Given the description of an element on the screen output the (x, y) to click on. 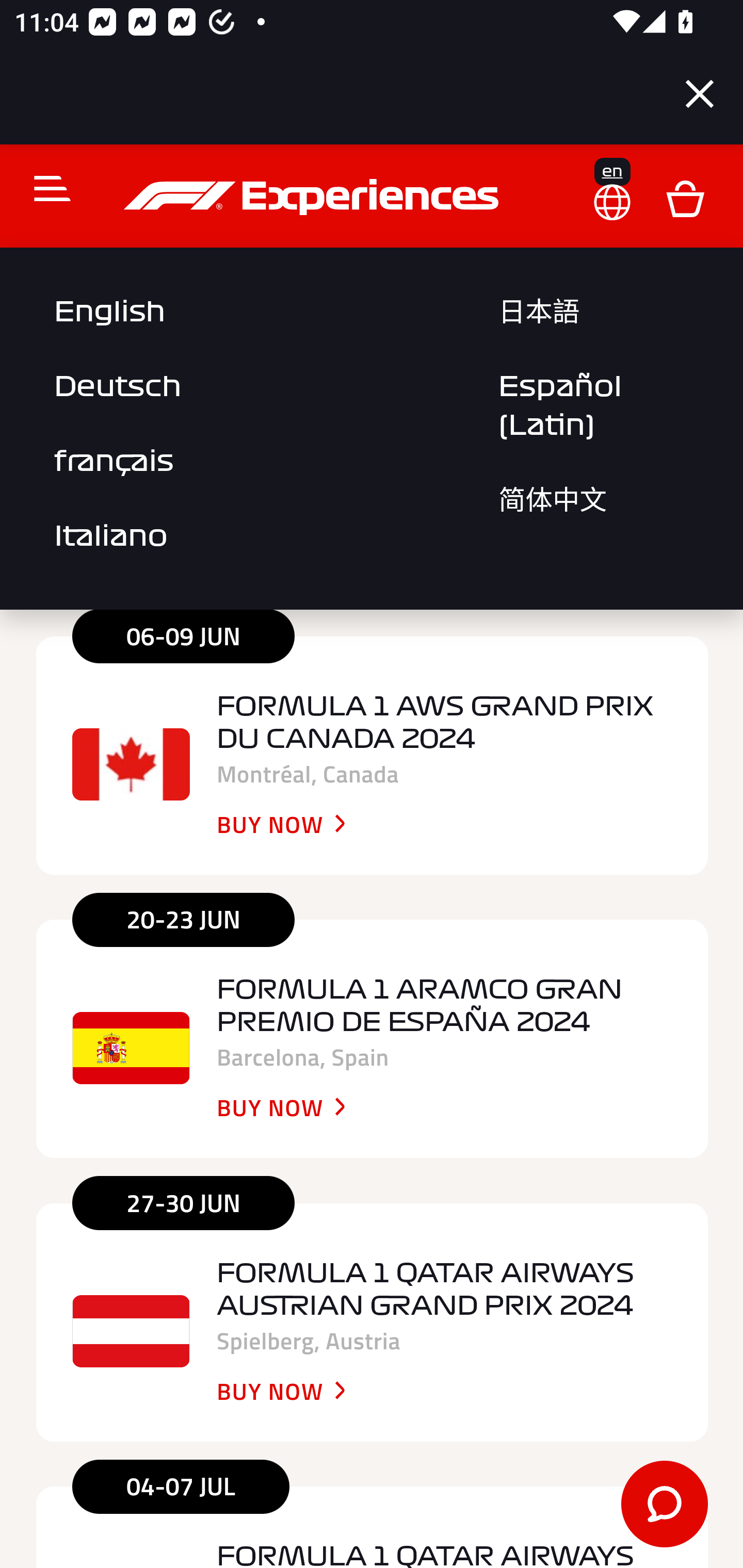
Close (699, 93)
Toggle navigation C (43, 189)
D (684, 198)
f1experiences (313, 197)
